Given the description of an element on the screen output the (x, y) to click on. 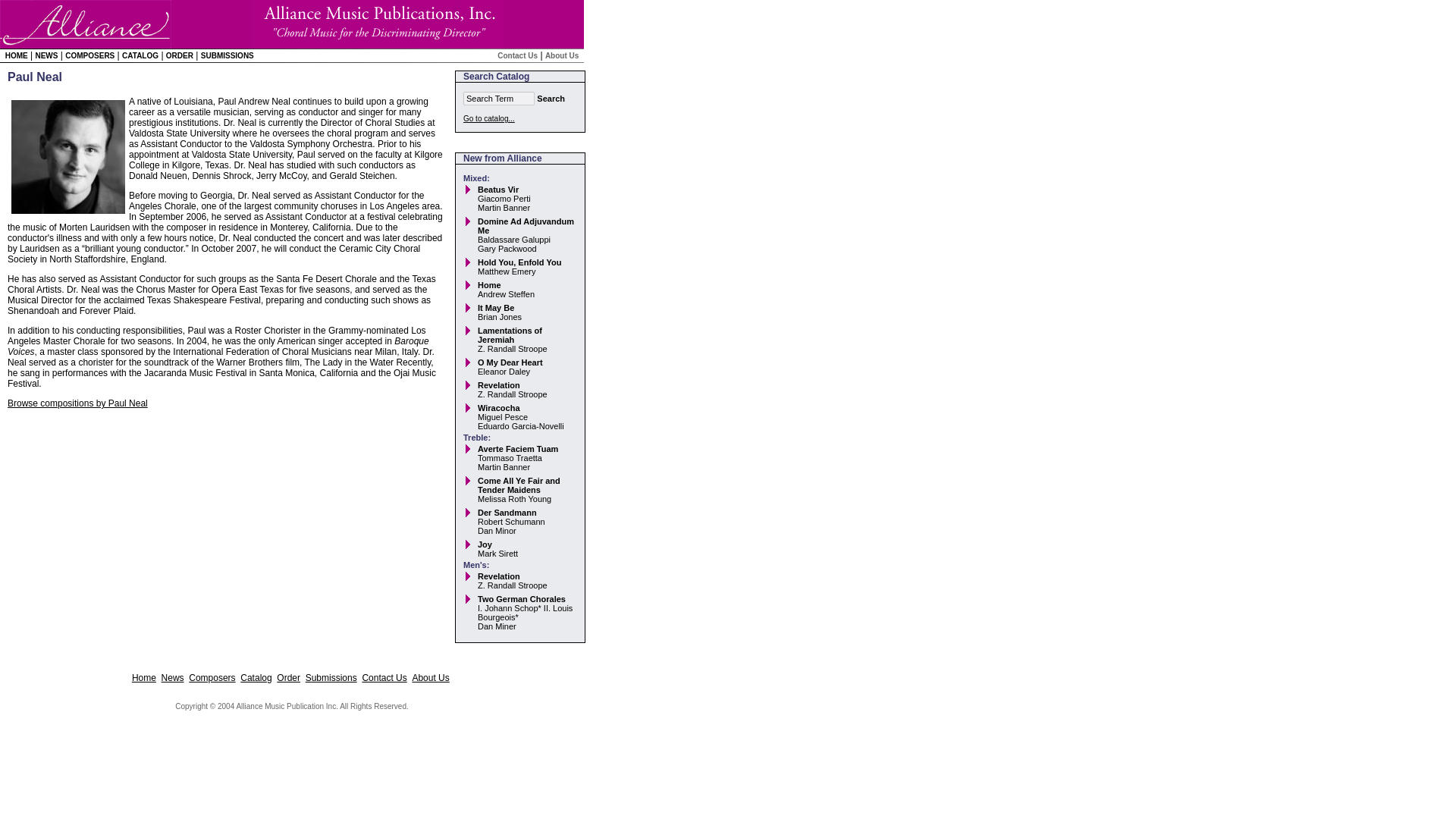
Go to catalog... (489, 118)
Joy (484, 543)
Browse compositions by Paul Neal (77, 403)
Hold You, Enfold You (518, 261)
Der Sandmann (507, 511)
SUBMISSIONS (226, 55)
Lamentations of Jeremiah (509, 334)
Home (488, 284)
Composers (211, 677)
Averte Faciem Tuam (517, 448)
About Us (430, 677)
CATALOG (140, 55)
NEWS (46, 55)
Search (550, 98)
News (172, 677)
